Given the description of an element on the screen output the (x, y) to click on. 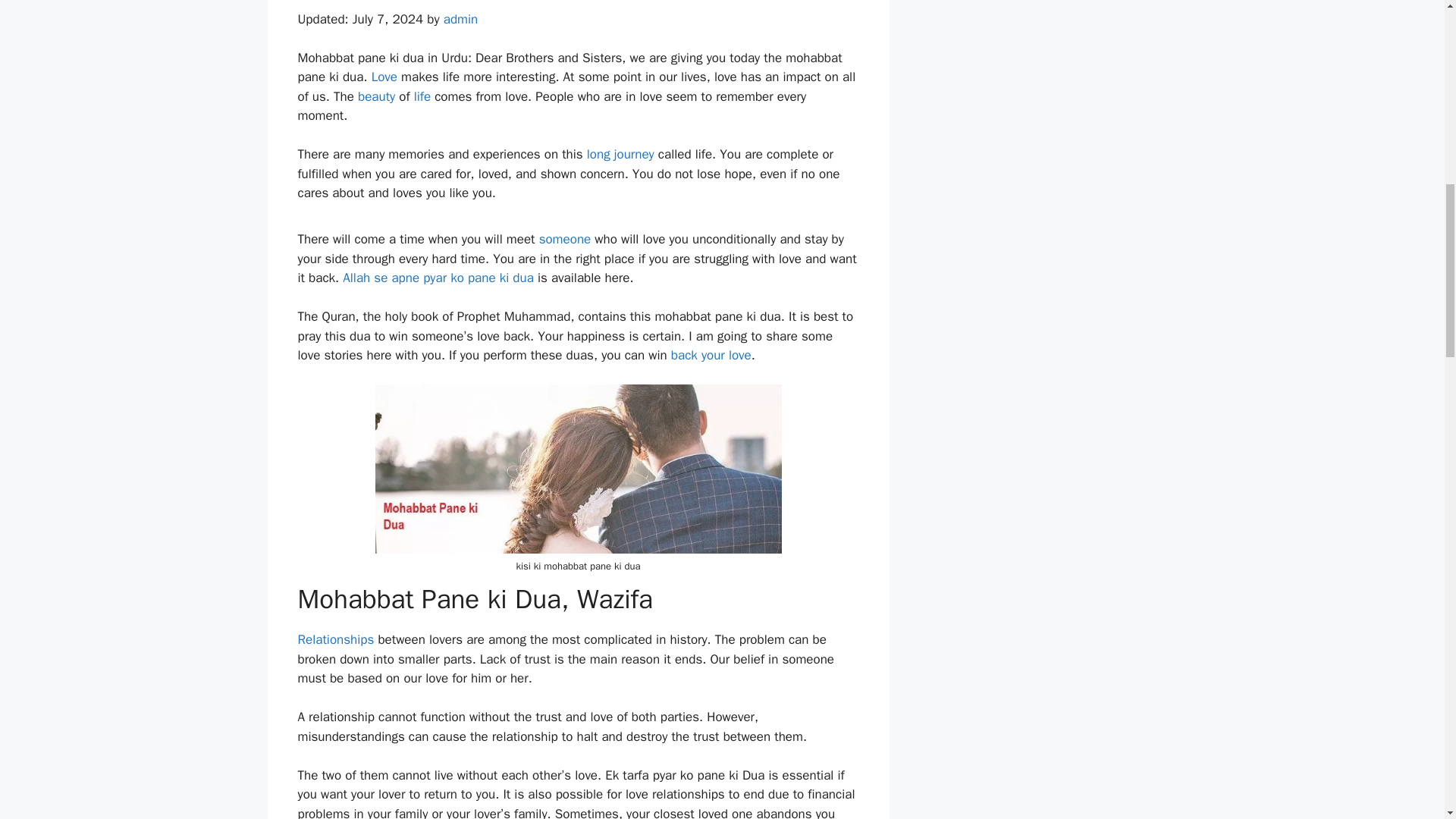
long journey (619, 154)
Relationships (335, 639)
back your love (711, 355)
Love (384, 76)
beauty (376, 96)
someone (564, 238)
life (421, 96)
Allah se apne pyar ko pane ki dua (438, 277)
admin (461, 19)
